Given the description of an element on the screen output the (x, y) to click on. 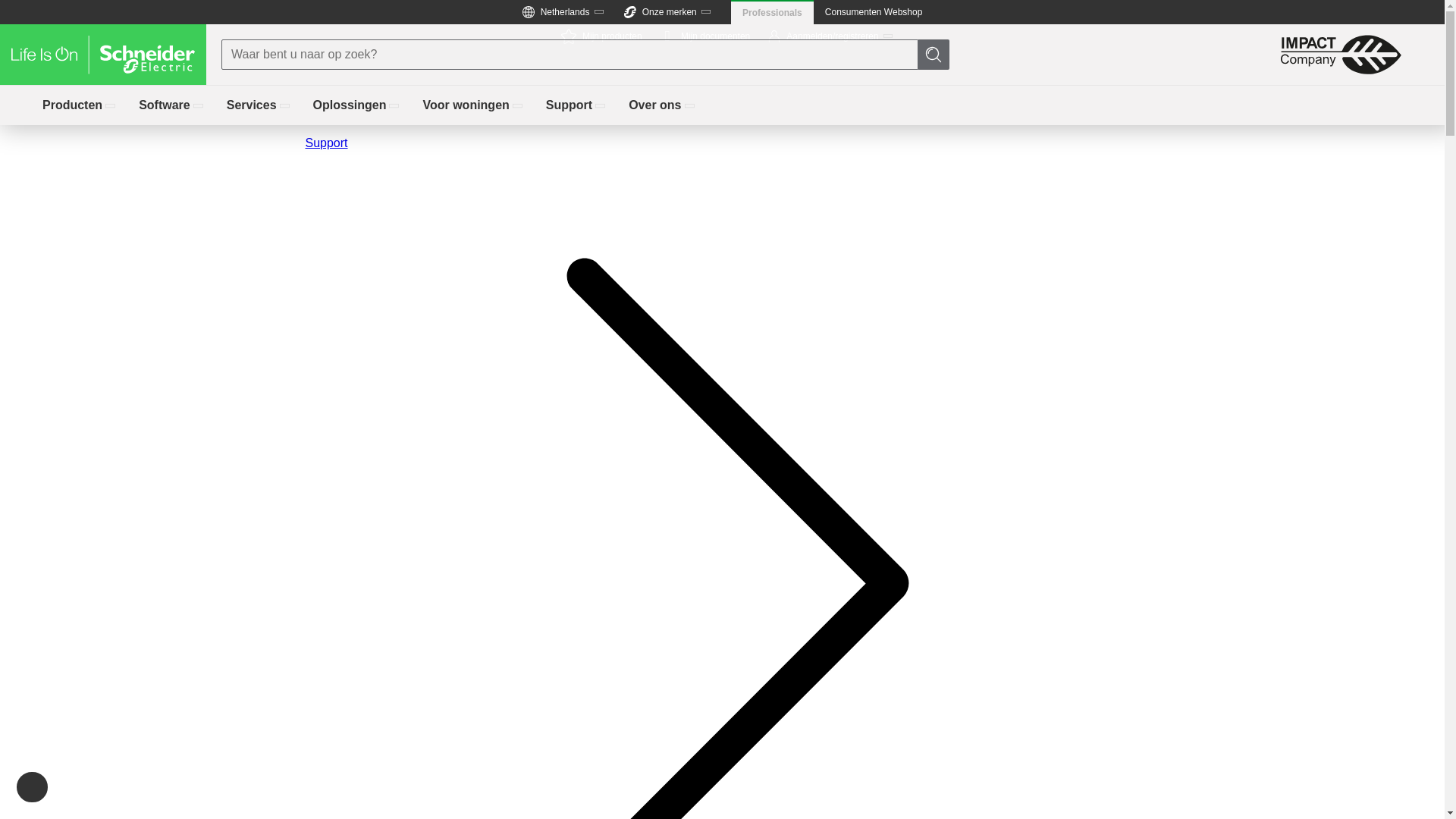
Consumenten Webshop (873, 12)
SE logo LIO white header (103, 54)
Professionals (771, 12)
Support (576, 105)
Consumenten Webshop (873, 12)
Search (933, 54)
Cancel (18, 6)
Oplossingen (706, 36)
